Given the description of an element on the screen output the (x, y) to click on. 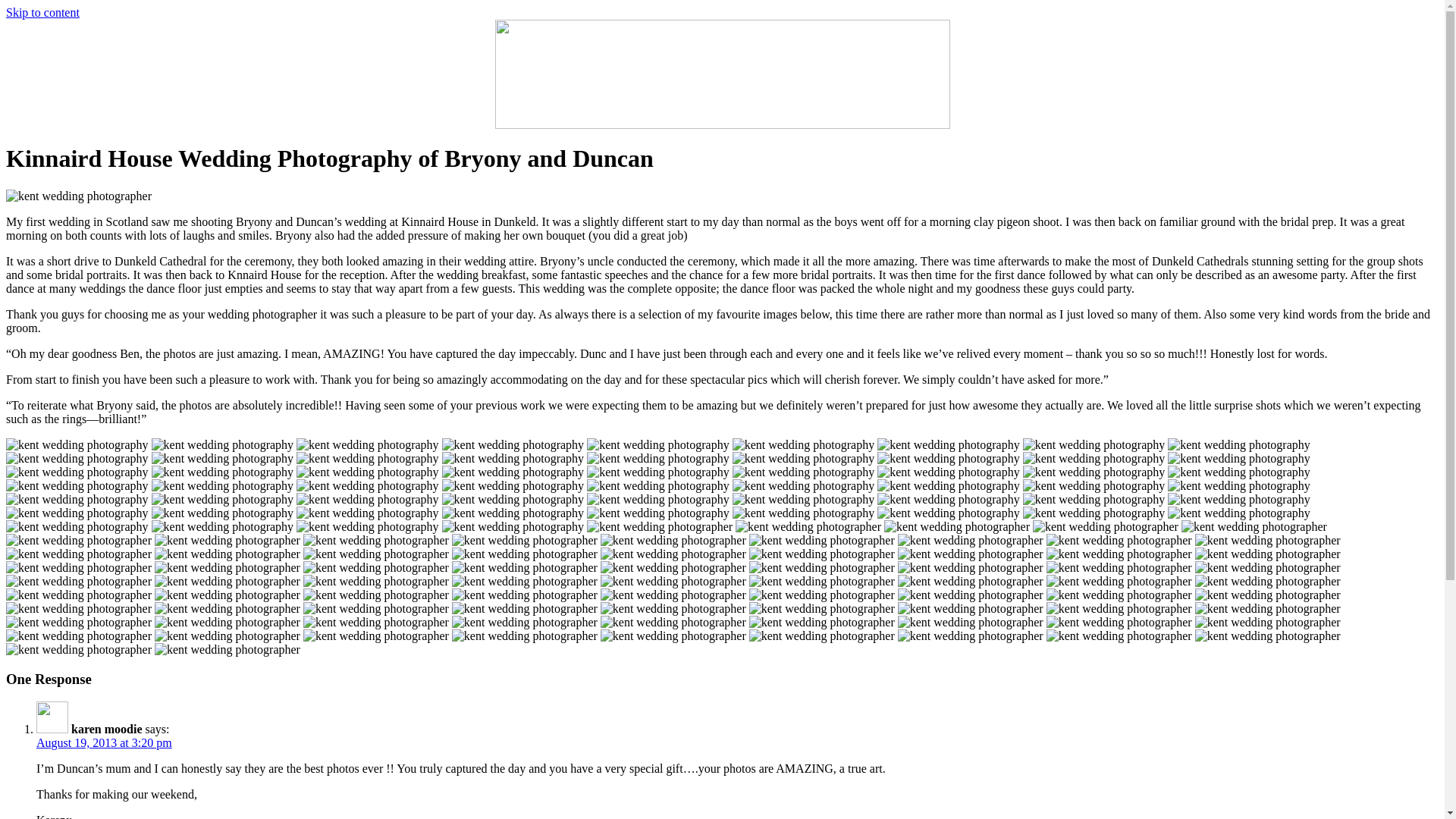
August 19, 2013 at 3:20 pm (103, 742)
Skip to content (42, 11)
